Given the description of an element on the screen output the (x, y) to click on. 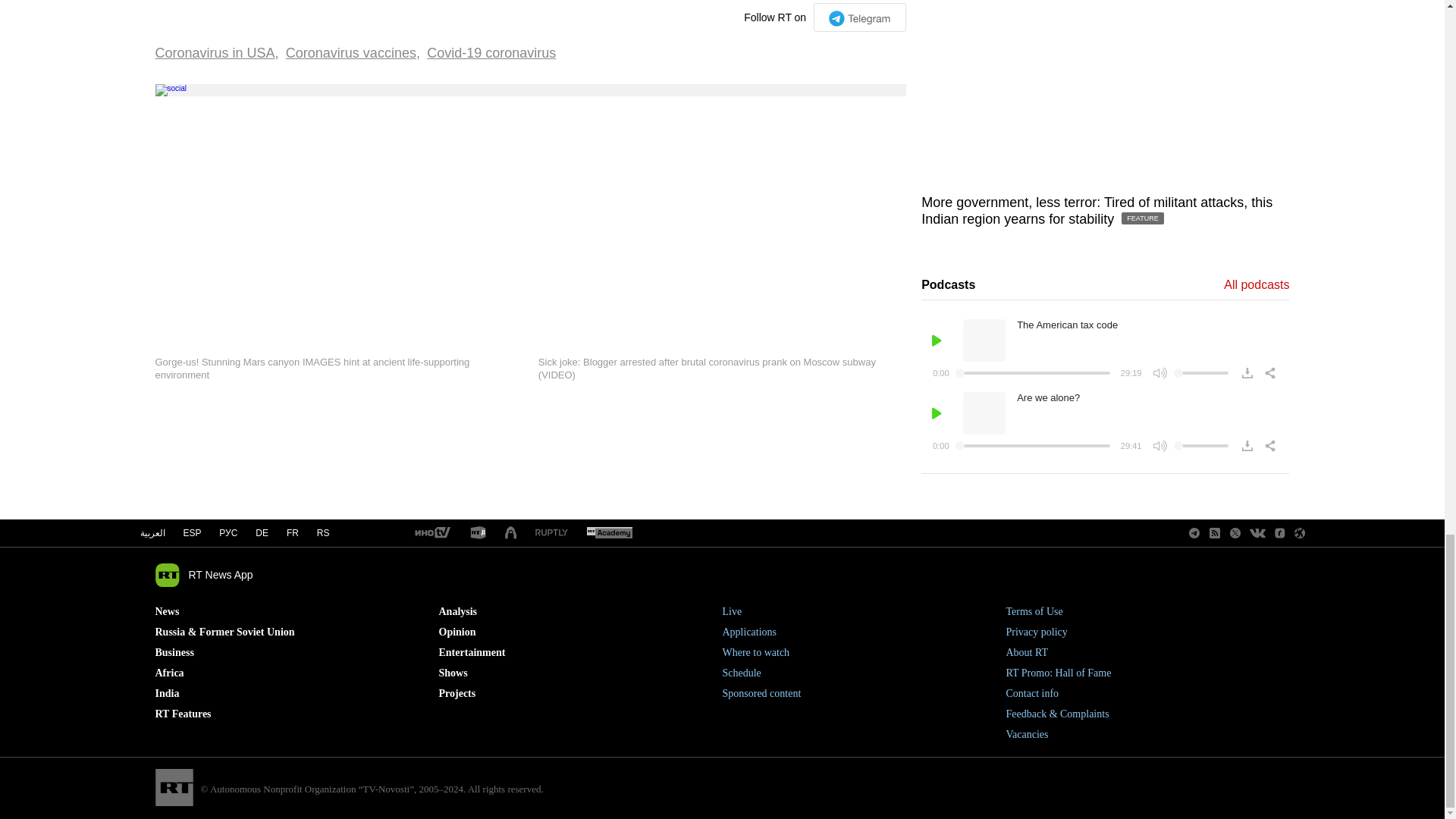
RT  (431, 533)
RT  (608, 533)
RT  (478, 533)
RT  (551, 533)
